Given the description of an element on the screen output the (x, y) to click on. 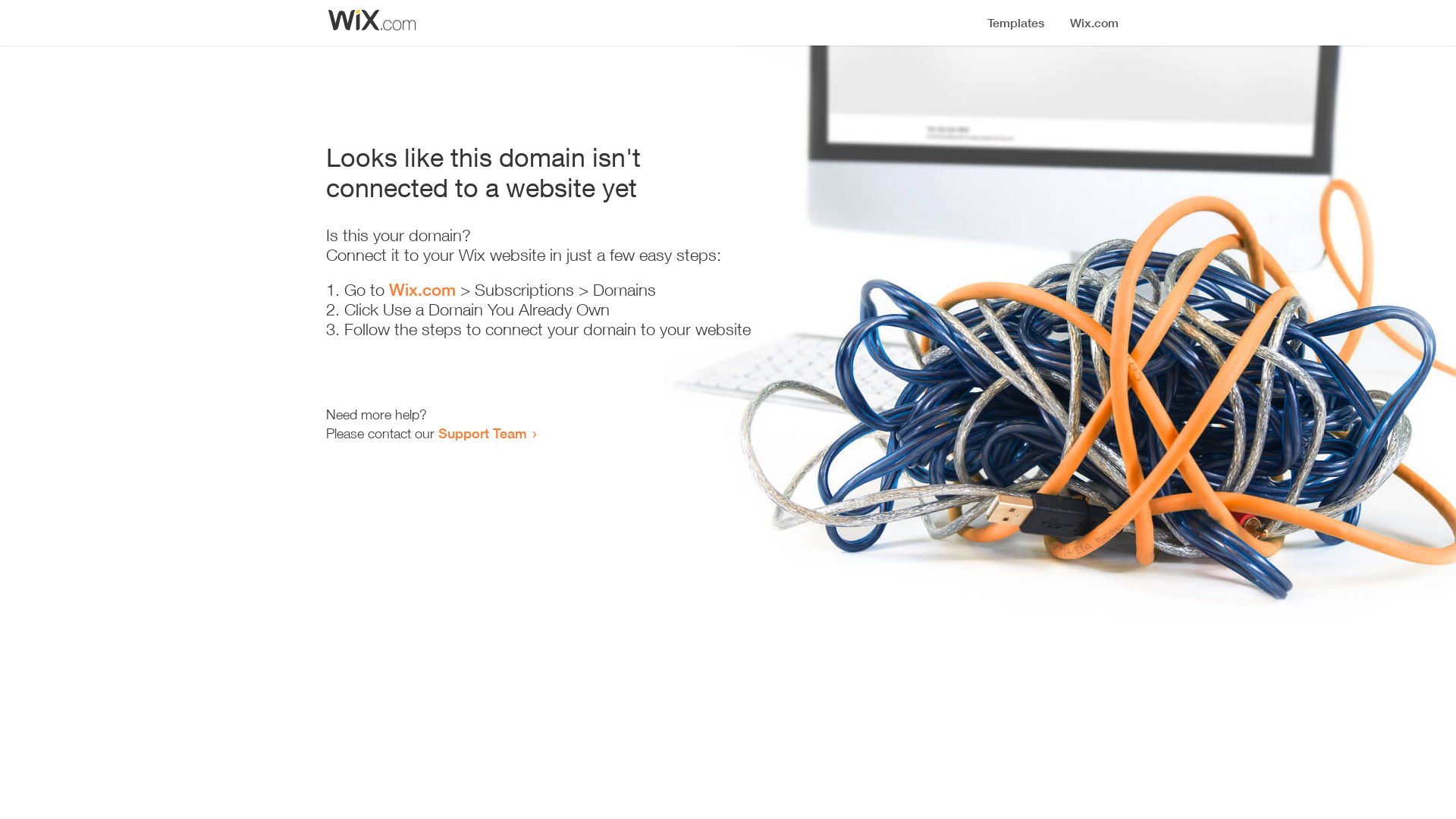
Support Team Element type: text (482, 432)
Wix.com Element type: text (422, 289)
